Given the description of an element on the screen output the (x, y) to click on. 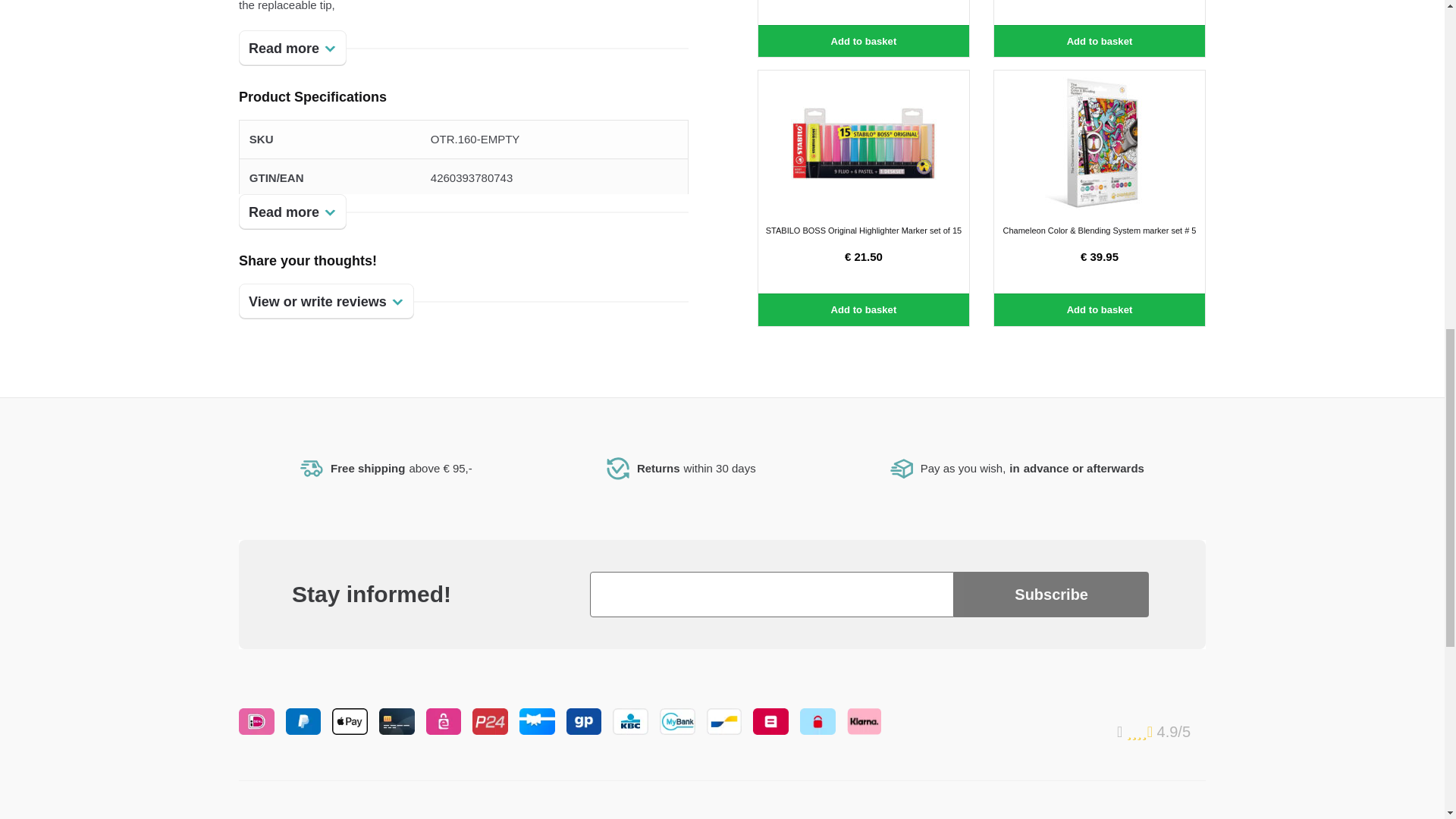
Subscribe (1050, 594)
